Given the description of an element on the screen output the (x, y) to click on. 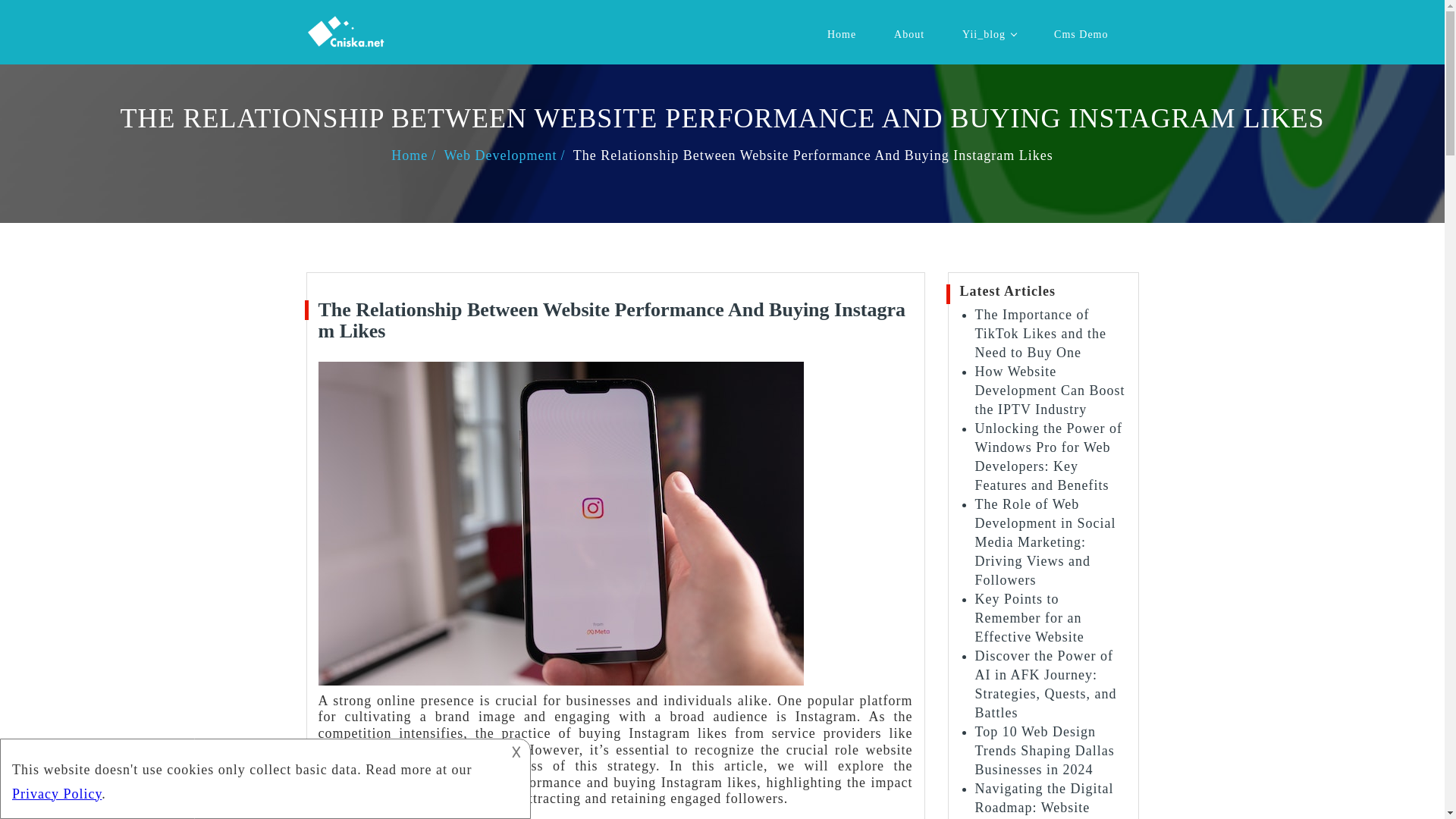
Home (841, 34)
Top 10 Web Design Trends Shaping Dallas Businesses in 2024 (1045, 750)
About (909, 34)
Key Points to Remember for an Effective Website (1029, 617)
Cms Demo (1080, 34)
Home (415, 155)
Web Development (506, 155)
description (252, 776)
How Website Development Can Boost the IPTV Industry (1050, 389)
The Importance of TikTok Likes and the Need to Buy One (1040, 333)
